Given the description of an element on the screen output the (x, y) to click on. 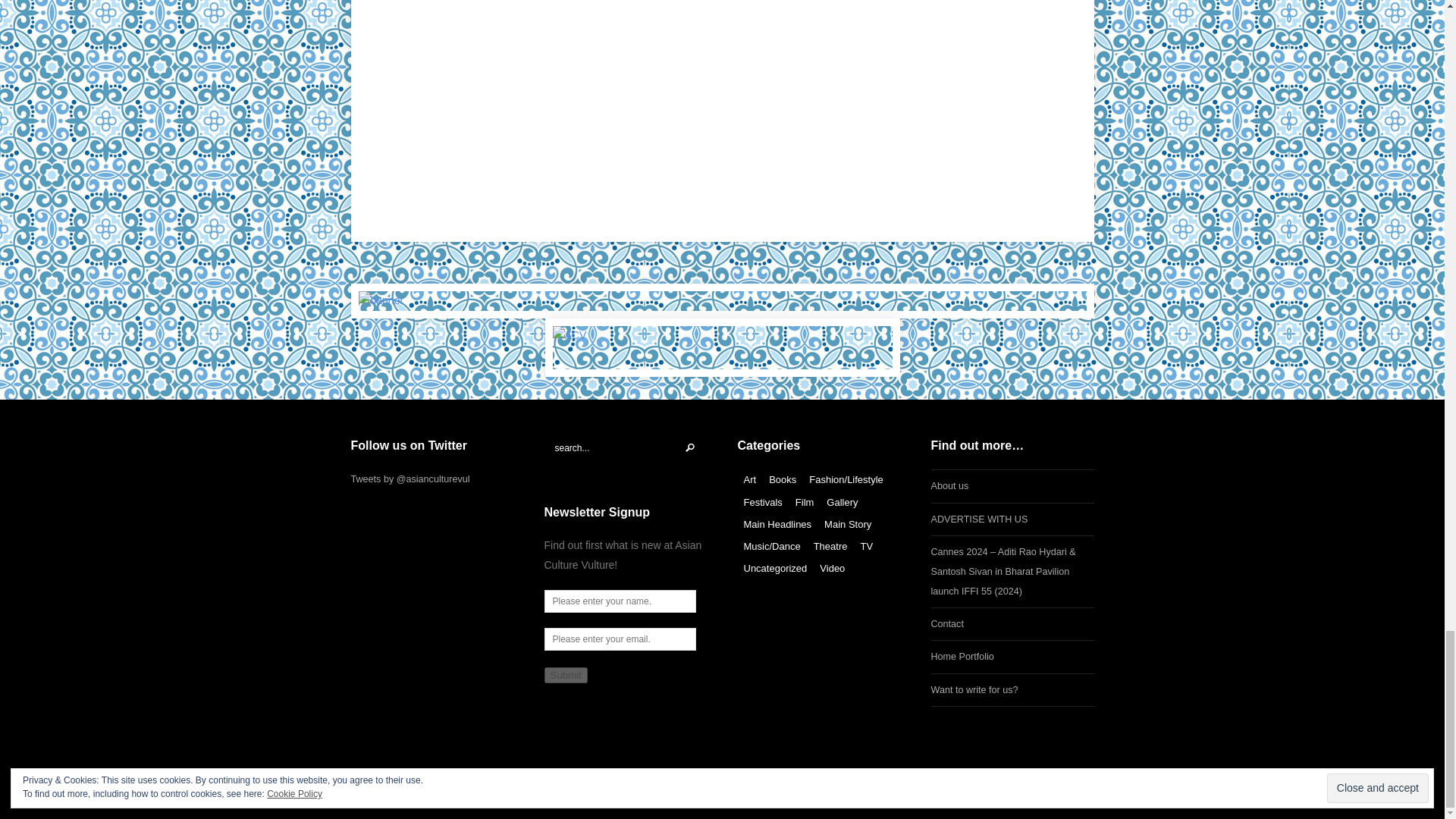
Submit (566, 675)
search... (625, 447)
search... (625, 447)
